Given the description of an element on the screen output the (x, y) to click on. 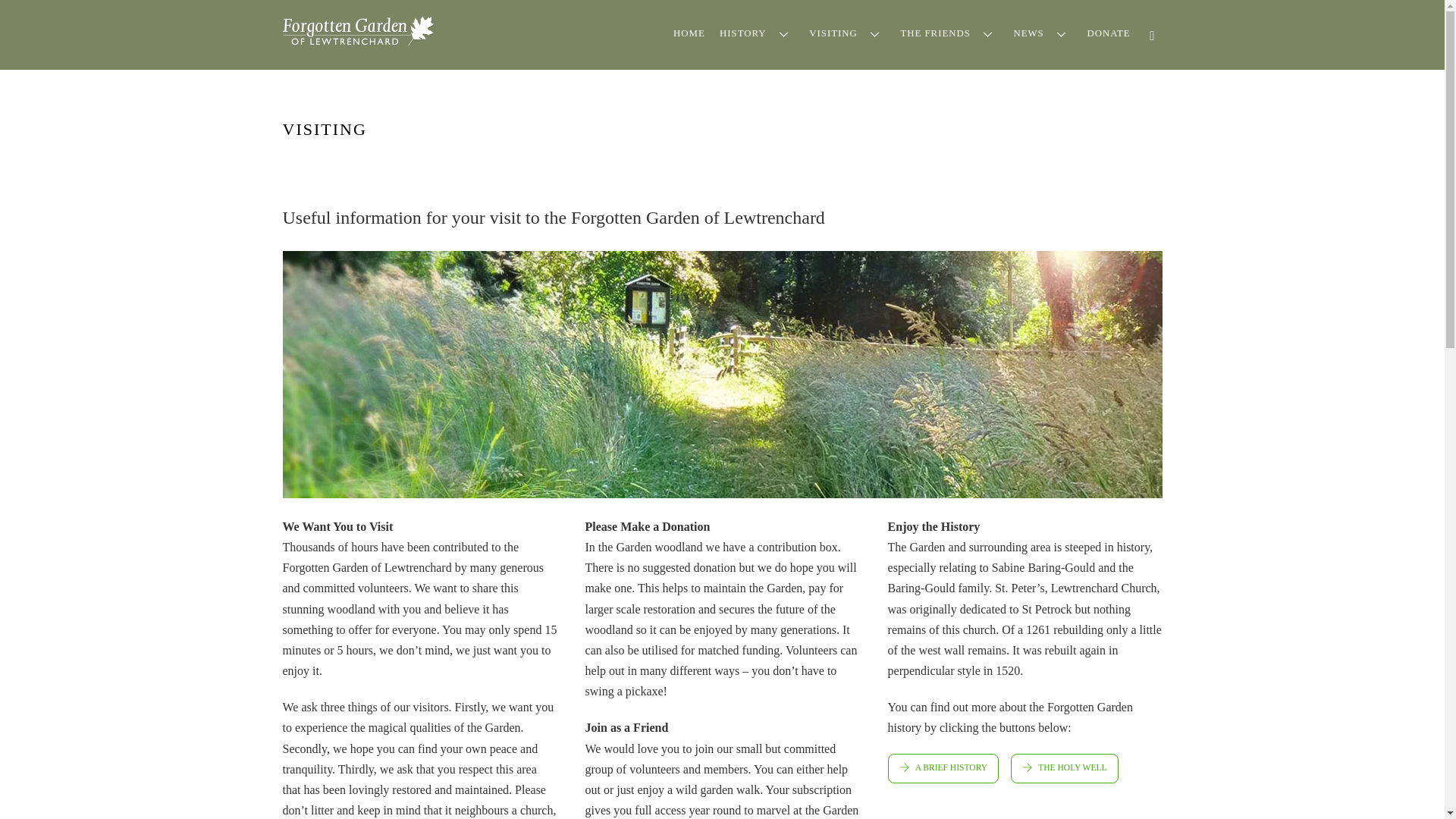
DONATE (1109, 33)
HISTORY (756, 33)
THE FRIENDS (949, 33)
NEWS (1042, 33)
THE HOLY WELL (1064, 767)
Forgotten Garden of Lewtrenchard (721, 30)
HOME (357, 39)
VISITING (688, 33)
A BRIEF HISTORY (847, 33)
